Given the description of an element on the screen output the (x, y) to click on. 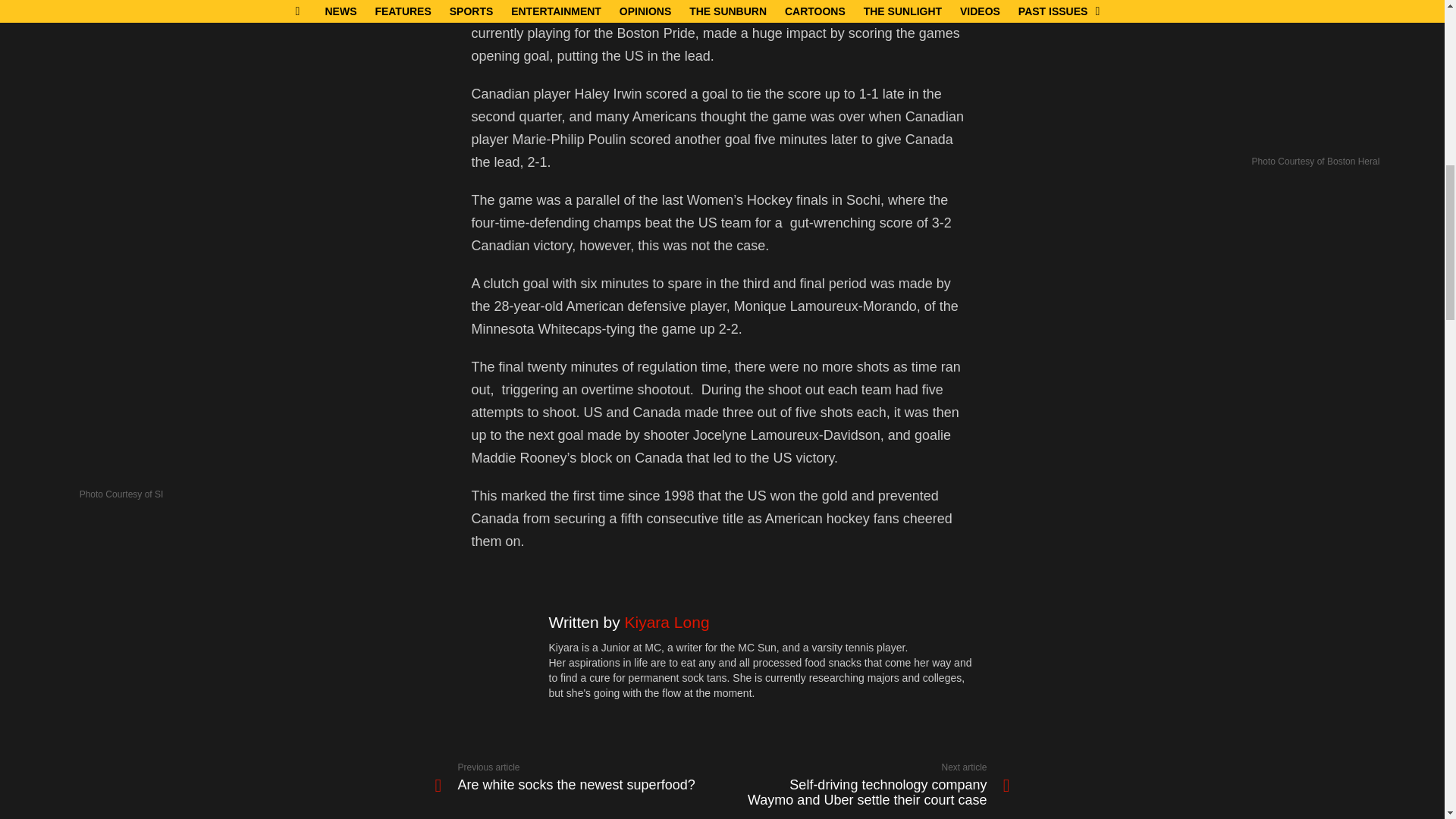
Kiyara Long (578, 777)
